Given the description of an element on the screen output the (x, y) to click on. 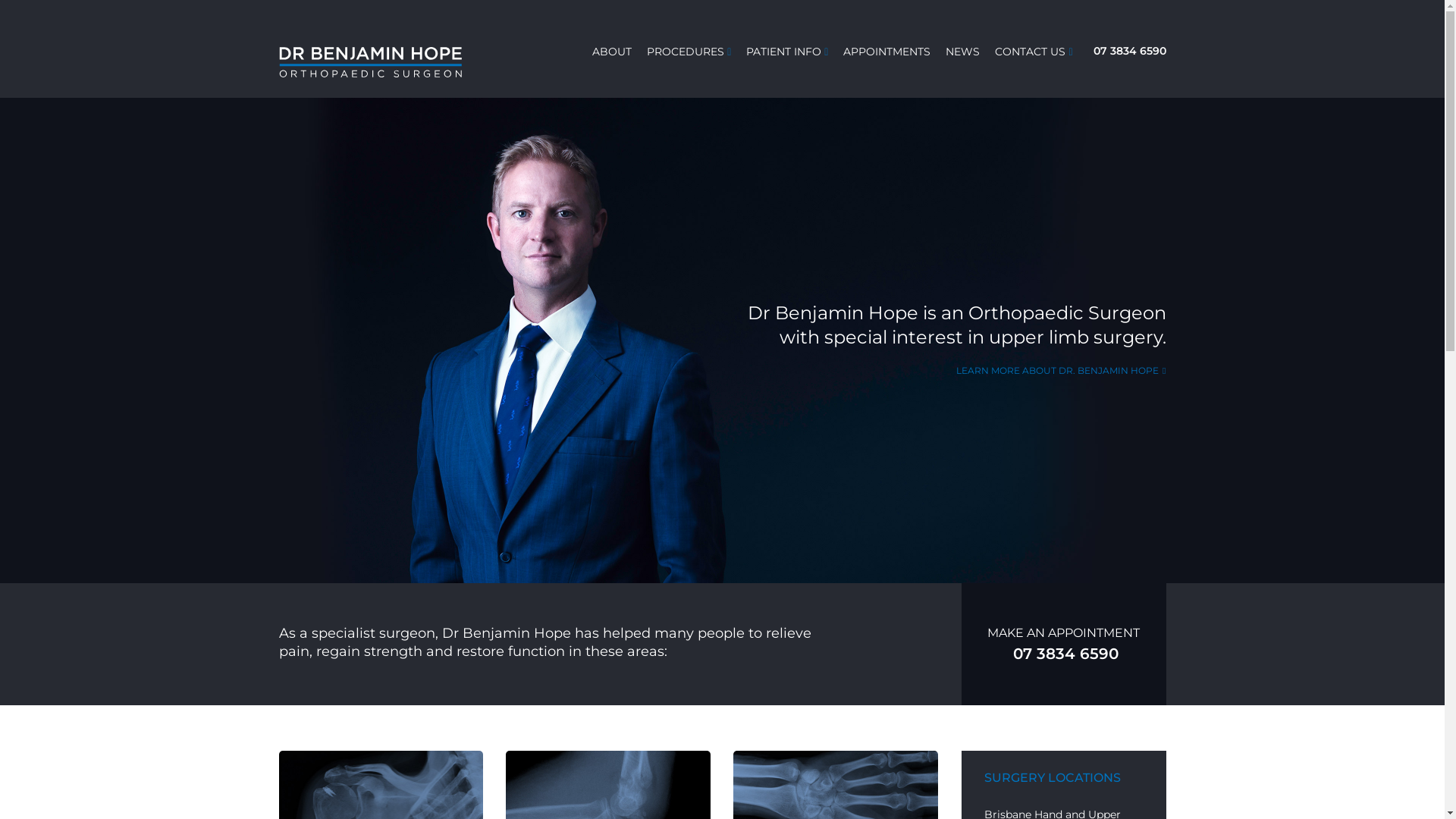
PROCEDURES Element type: text (685, 51)
APPOINTMENTS Element type: text (886, 51)
image logo Element type: hover (370, 61)
NEWS Element type: text (962, 51)
LEARN MORE ABOUT DR. BENJAMIN HOPE Element type: text (1060, 370)
Dr Benjamin Hope Element type: hover (381, 61)
CONTACT US Element type: text (1029, 51)
PATIENT INFO Element type: text (783, 51)
ABOUT Element type: text (611, 51)
